Given the description of an element on the screen output the (x, y) to click on. 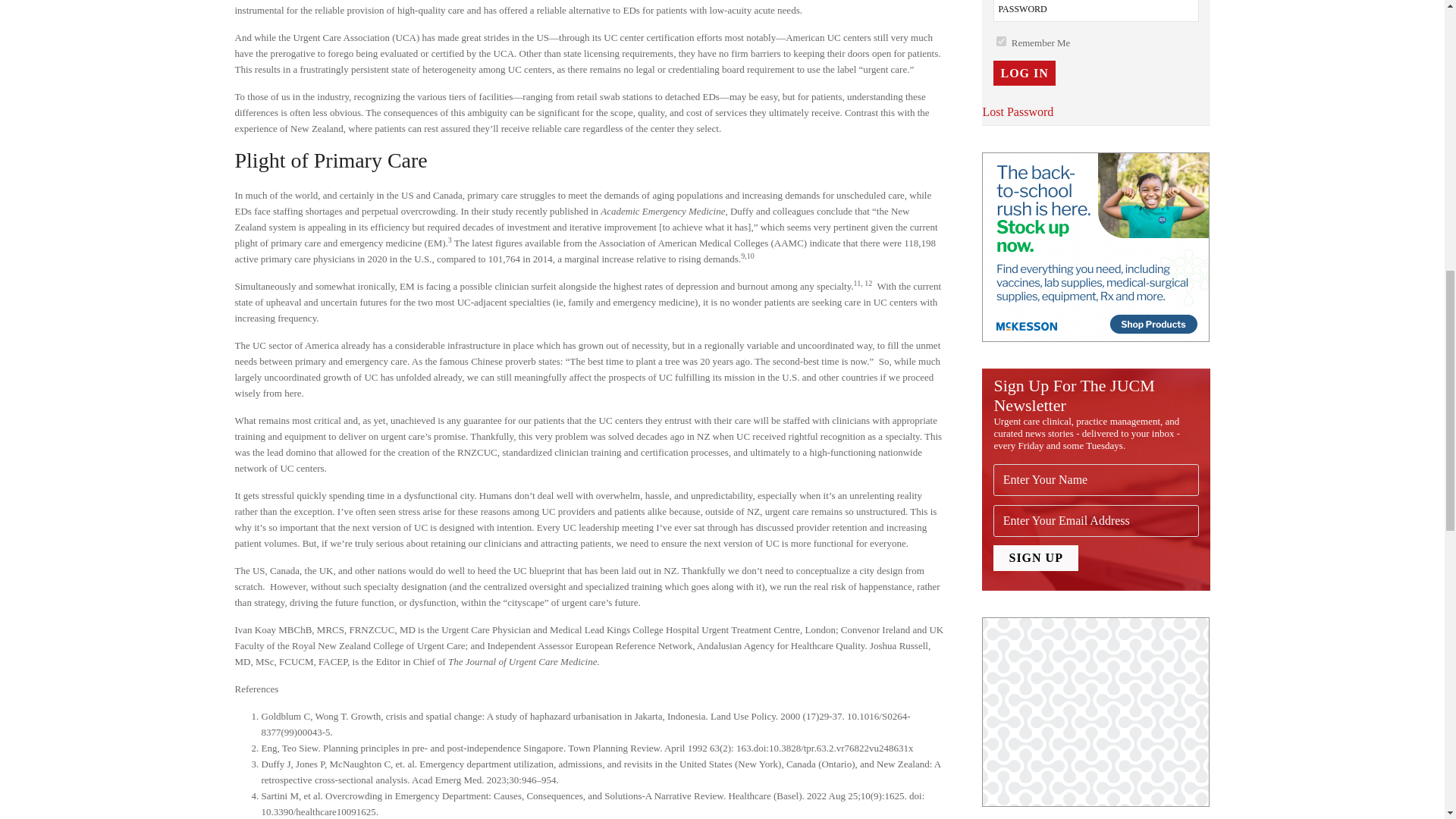
3rd party ad content (1095, 247)
forever (1000, 40)
3rd party ad content (1095, 711)
SIGN UP (1034, 557)
Log In (1023, 72)
